Given the description of an element on the screen output the (x, y) to click on. 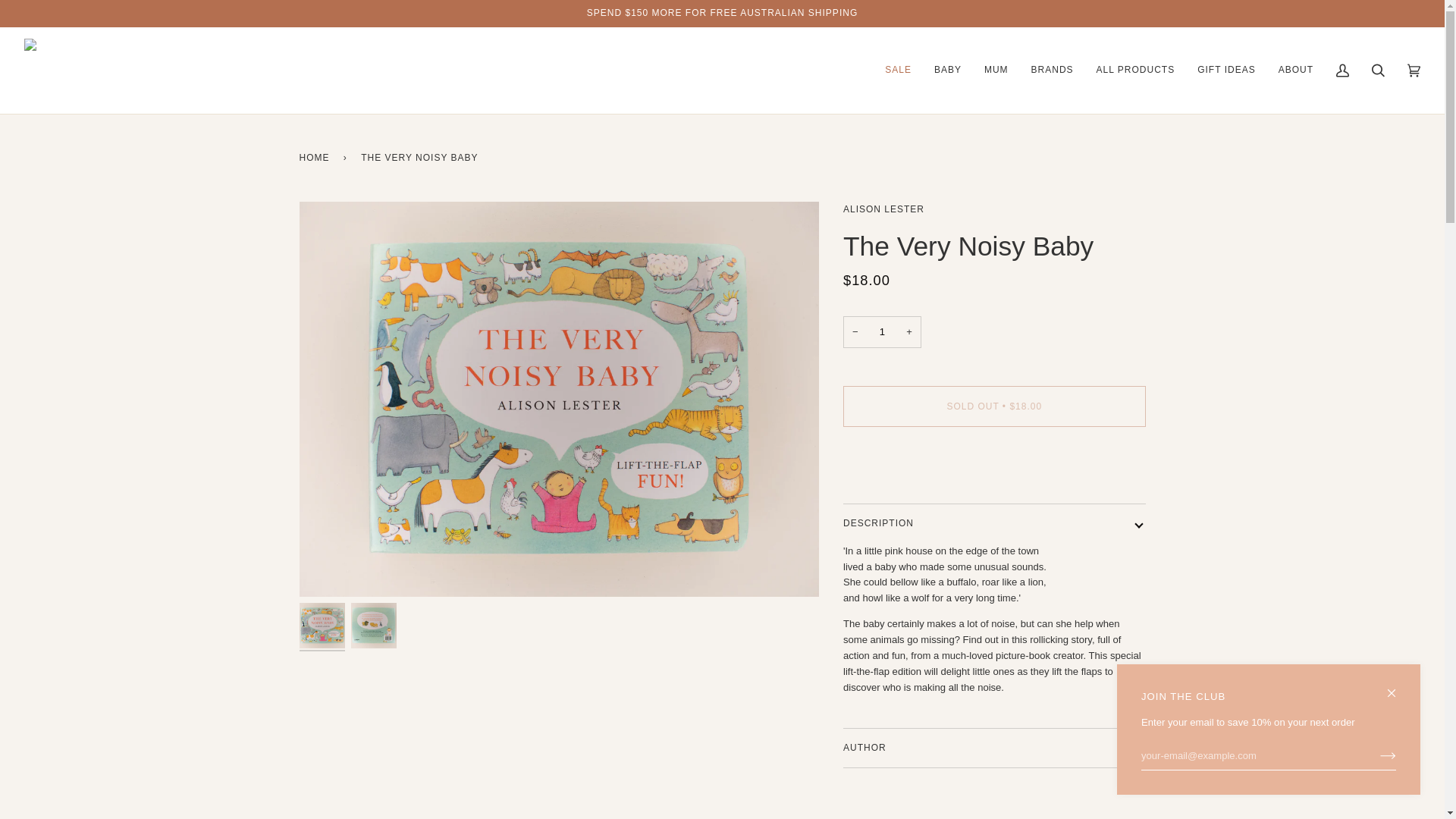
1 (882, 332)
Back to the frontpage (316, 157)
Close (1398, 686)
ALL PRODUCTS (1135, 70)
